Given the description of an element on the screen output the (x, y) to click on. 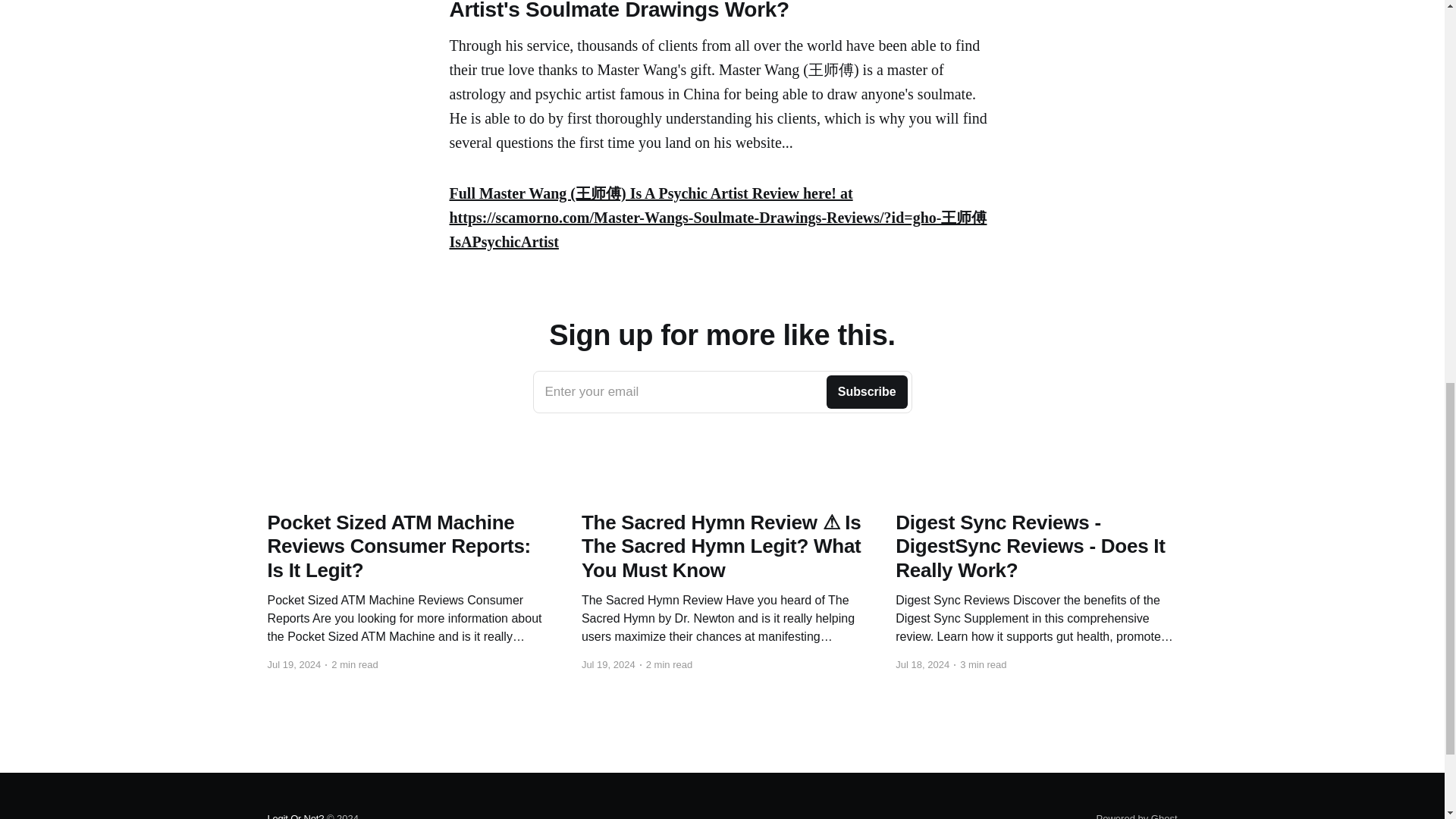
Powered by Ghost (1136, 816)
Legit Or Not? (721, 392)
